Given the description of an element on the screen output the (x, y) to click on. 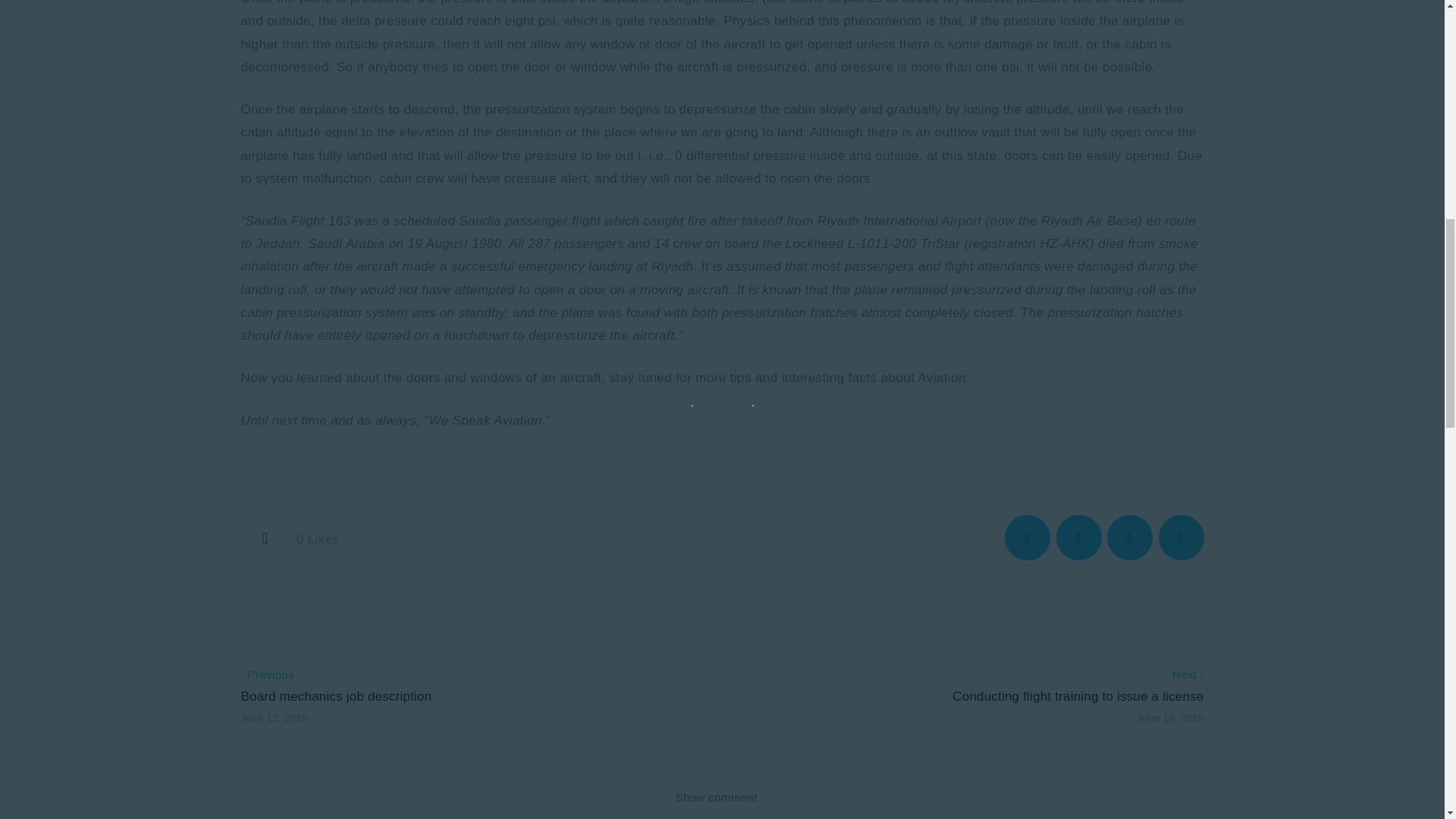
0Likes (290, 537)
Copy URL to clipboard (1181, 537)
Like (290, 537)
